Given the description of an element on the screen output the (x, y) to click on. 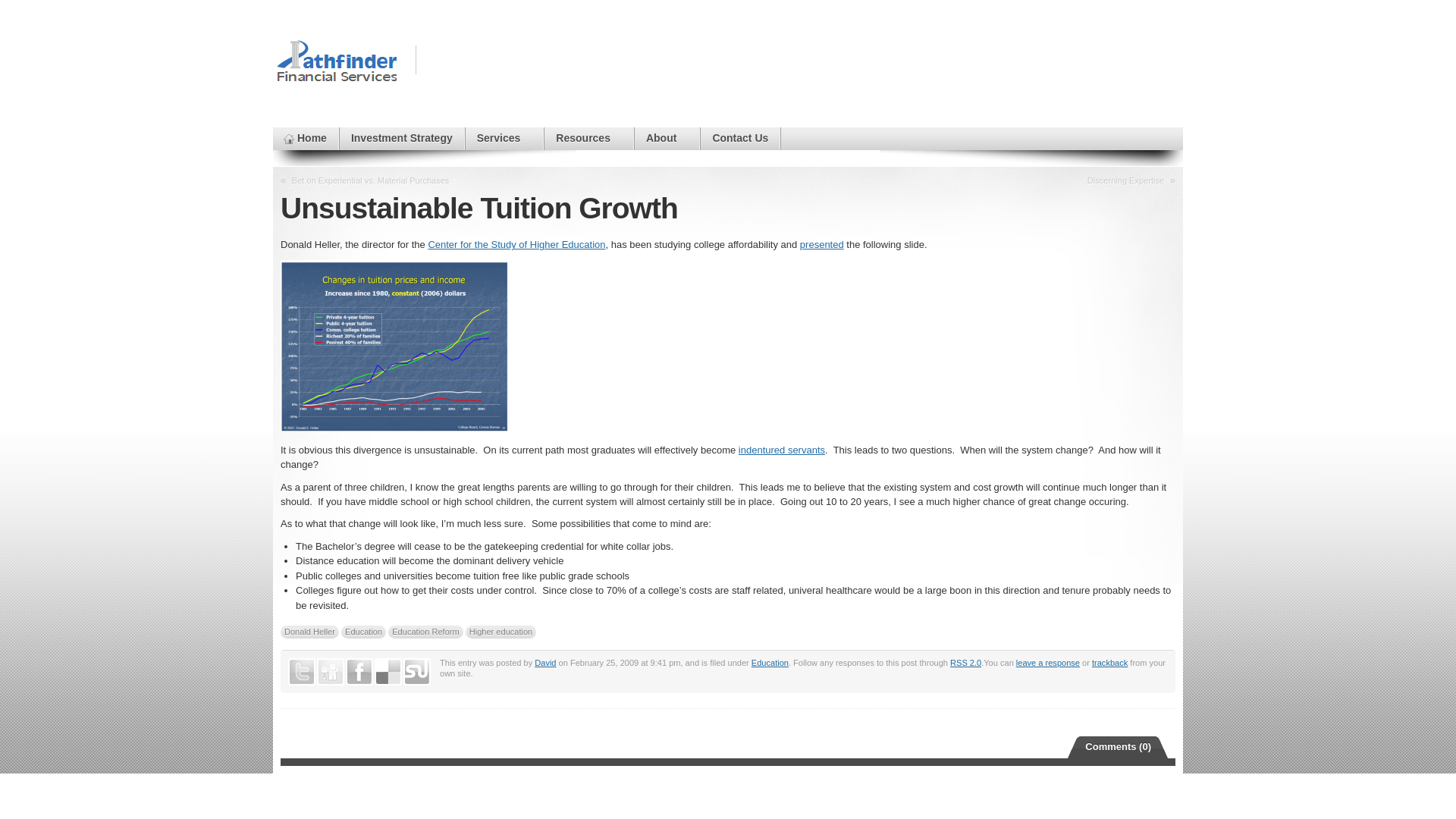
Share this post on Twitter (301, 671)
Indentured servant (781, 449)
Contact Us (739, 138)
David (545, 662)
Investment Strategy (401, 138)
Home Page (305, 138)
presented (821, 244)
Education Reform (425, 631)
tuition-bubble (394, 345)
Donald Heller (310, 631)
Home (305, 138)
Services (504, 138)
indentured servants (781, 449)
Resources (588, 138)
Education (362, 631)
